Given the description of an element on the screen output the (x, y) to click on. 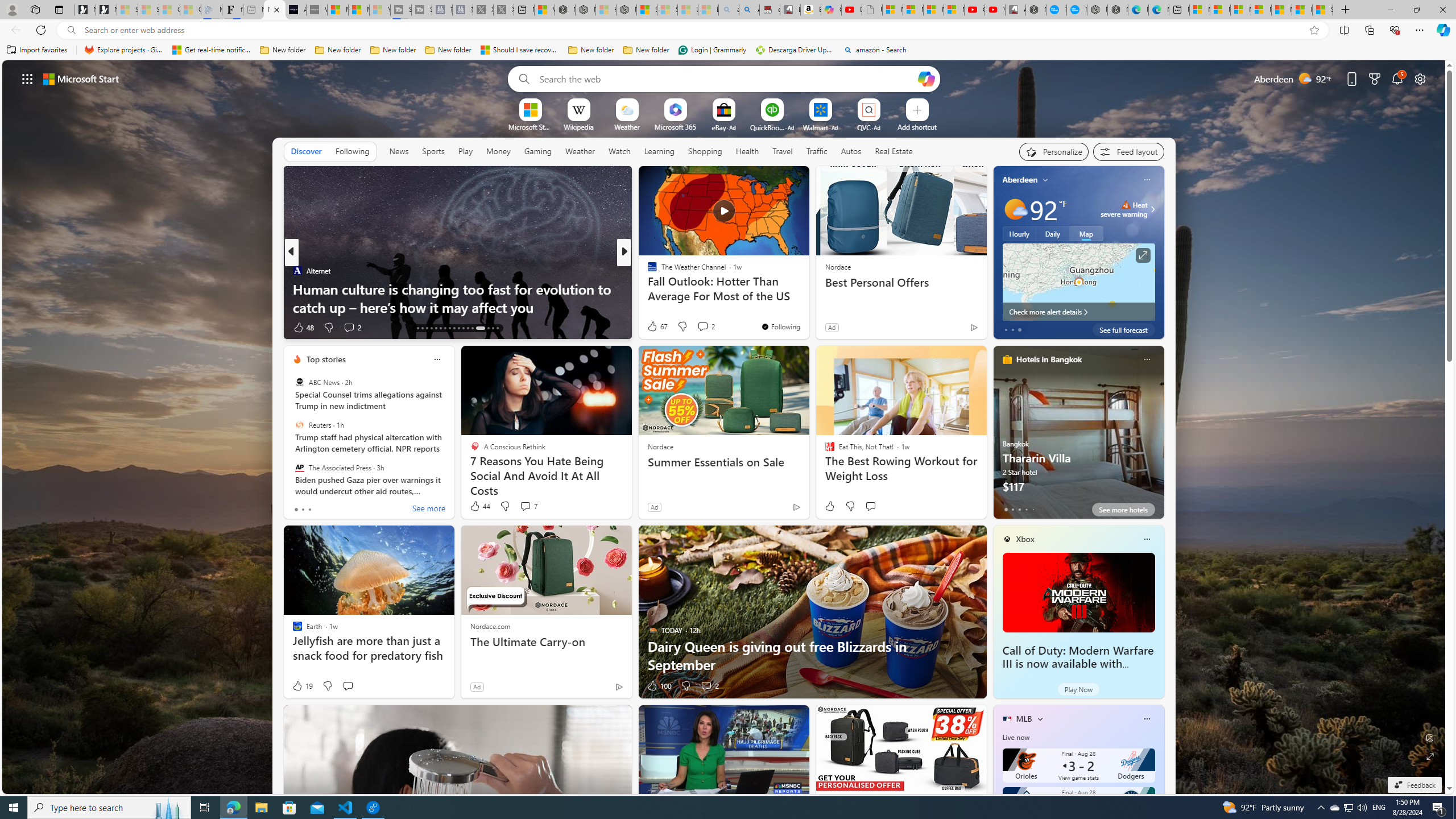
amazon - Search (875, 49)
Discover (306, 151)
See more hotels (1123, 509)
Aberdeen (1019, 179)
Top stories (325, 359)
Split screen (1344, 29)
Newsletter Sign Up (106, 9)
257 Like (654, 327)
More options (1146, 718)
Top 5 Dark Discoveries In The Amazon Rainforest (807, 307)
Amazon Echo Dot PNG - Search Images (748, 9)
